Given the description of an element on the screen output the (x, y) to click on. 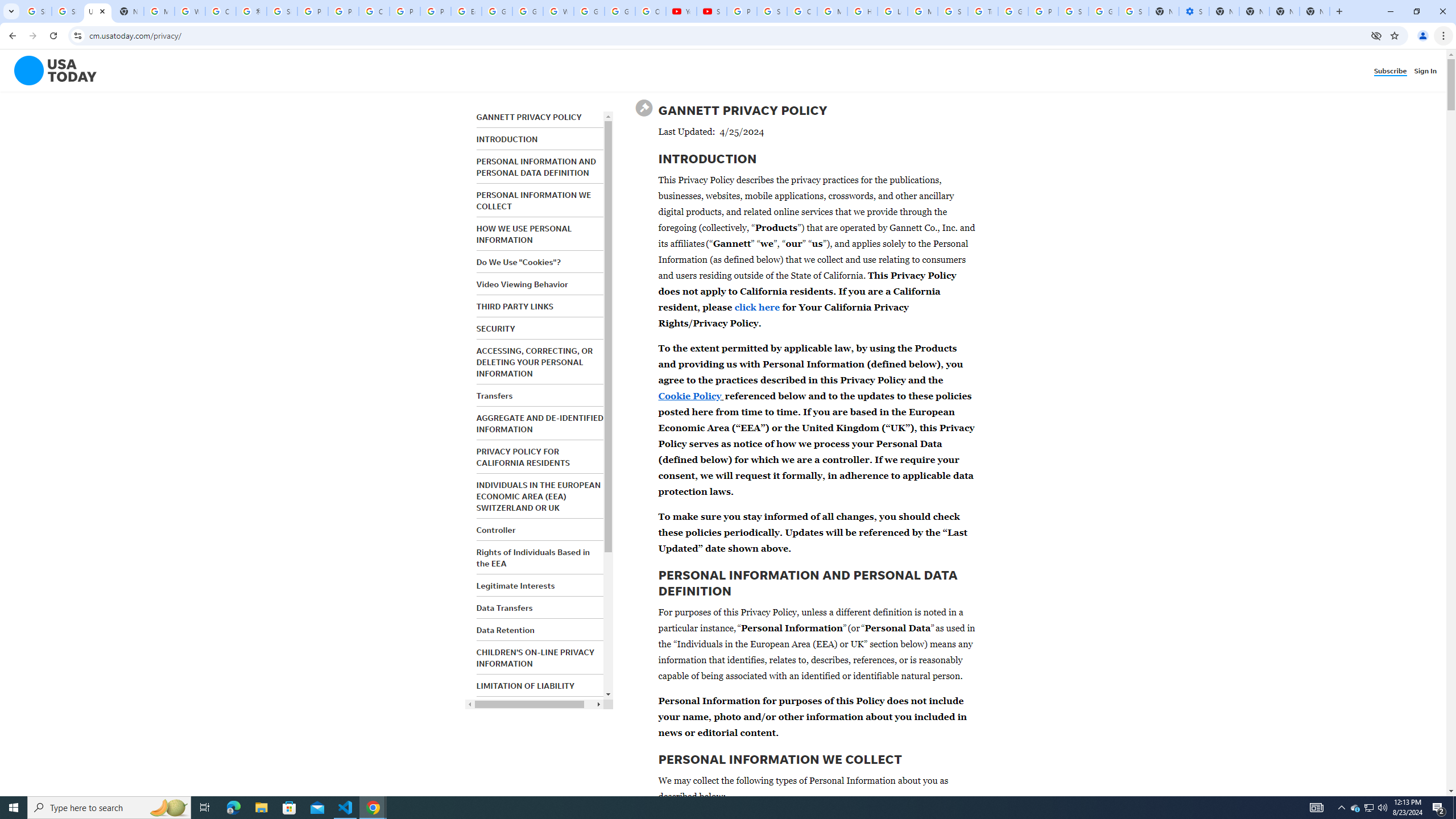
THIRD PARTY LINKS (514, 306)
Subscribe (1392, 70)
Sign in - Google Accounts (282, 11)
Do We Use "Cookies"? (518, 261)
Sign in - Google Accounts (1072, 11)
Sign In (1427, 70)
INDEMNIFICATION (512, 707)
